Given the description of an element on the screen output the (x, y) to click on. 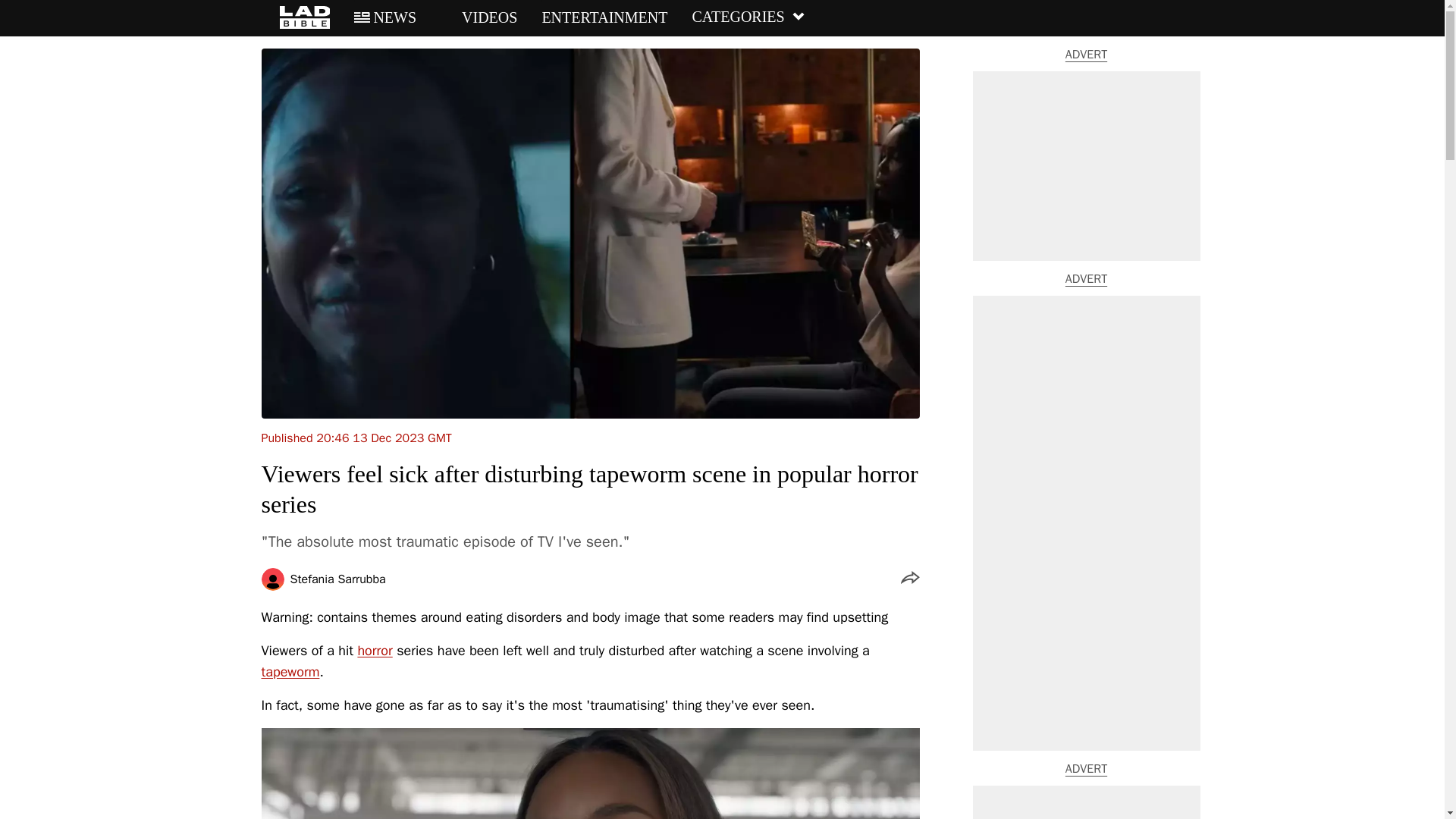
CATEGORIES (748, 17)
VIDEOS (478, 17)
ENTERTAINMENT (603, 17)
NEWS (384, 17)
